Given the description of an element on the screen output the (x, y) to click on. 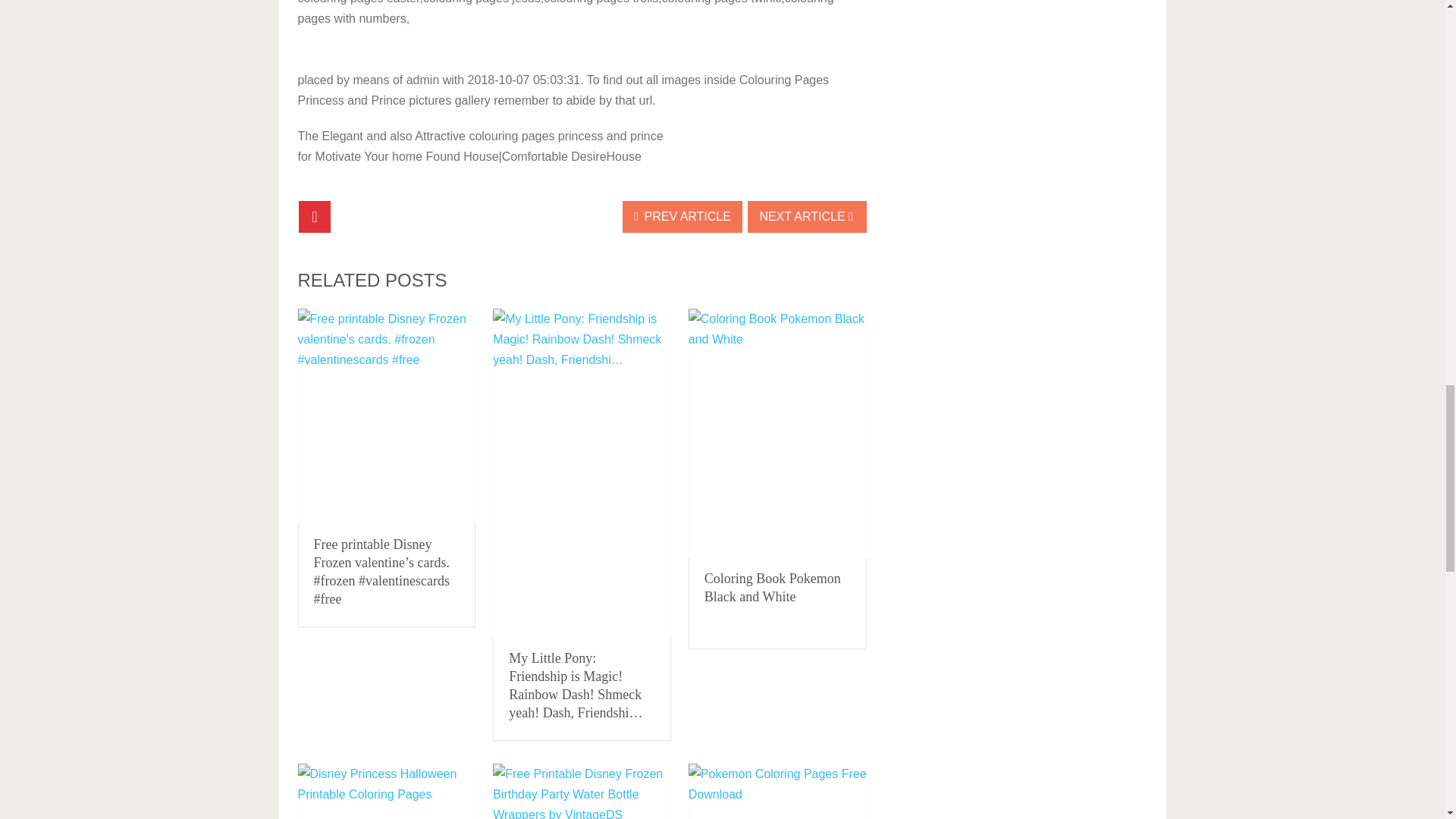
Coloring Book Pokemon Black and White (772, 587)
PREV ARTICLE (682, 216)
NEXT ARTICLE (807, 216)
